Given the description of an element on the screen output the (x, y) to click on. 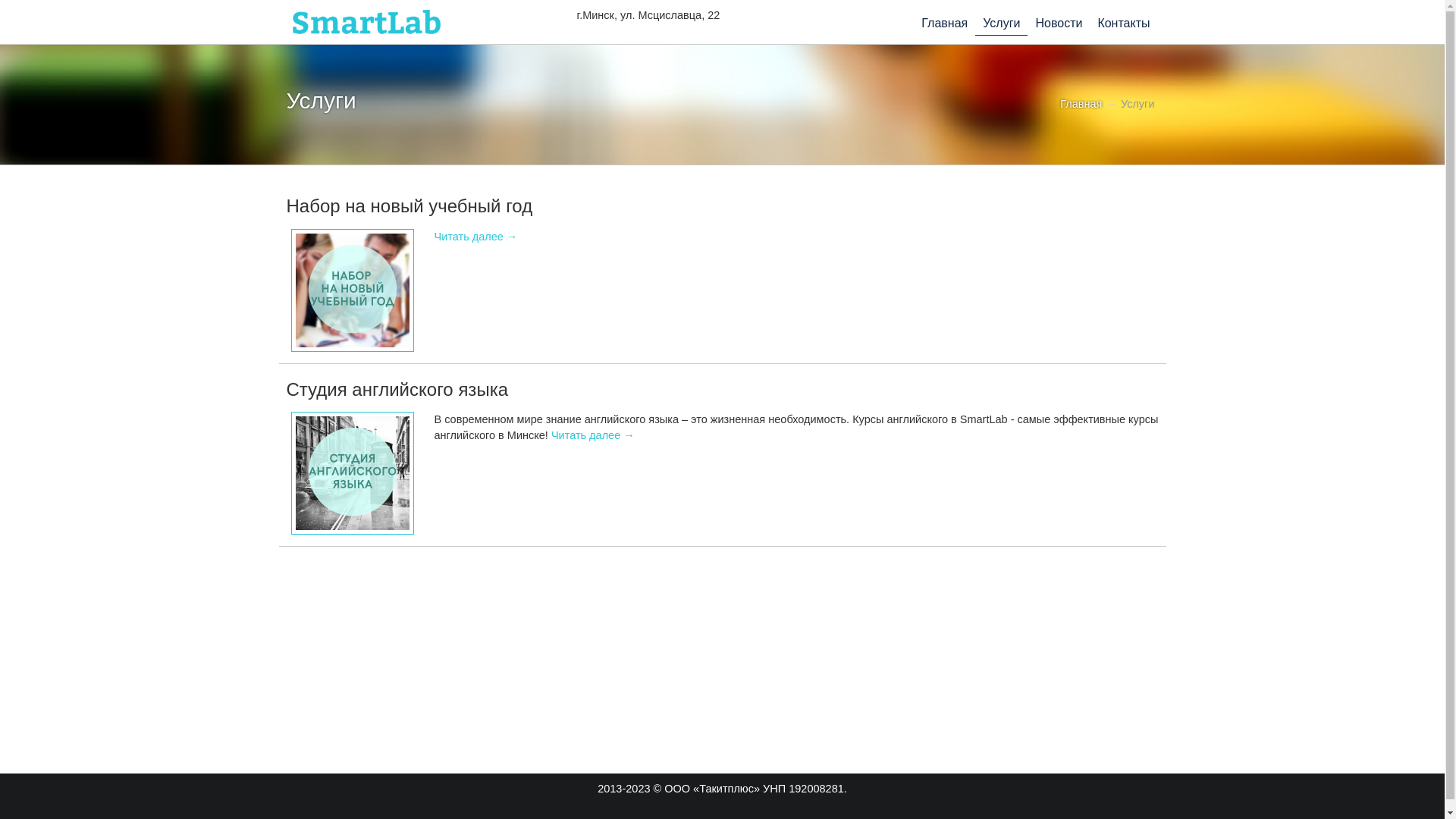
centernewton.by Element type: hover (365, 21)
